Given the description of an element on the screen output the (x, y) to click on. 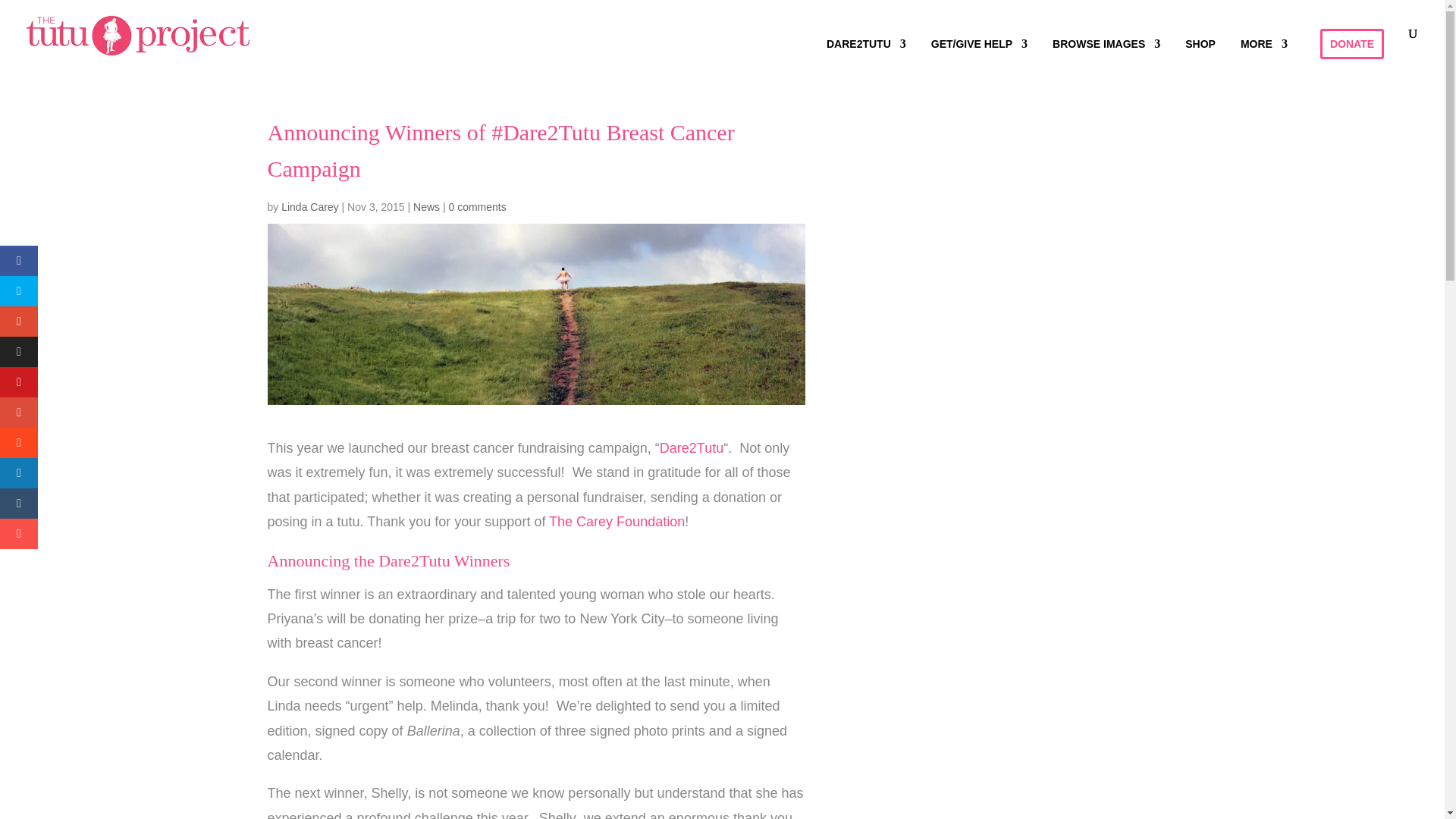
Dare2Tutu (691, 447)
MORE (1263, 52)
SHOP (1200, 52)
DARE2TUTU (866, 52)
The Carey Foundation (616, 521)
0 comments (476, 206)
Linda Carey (310, 206)
News (426, 206)
BROWSE IMAGES (1106, 52)
DONATE (1352, 43)
